Given the description of an element on the screen output the (x, y) to click on. 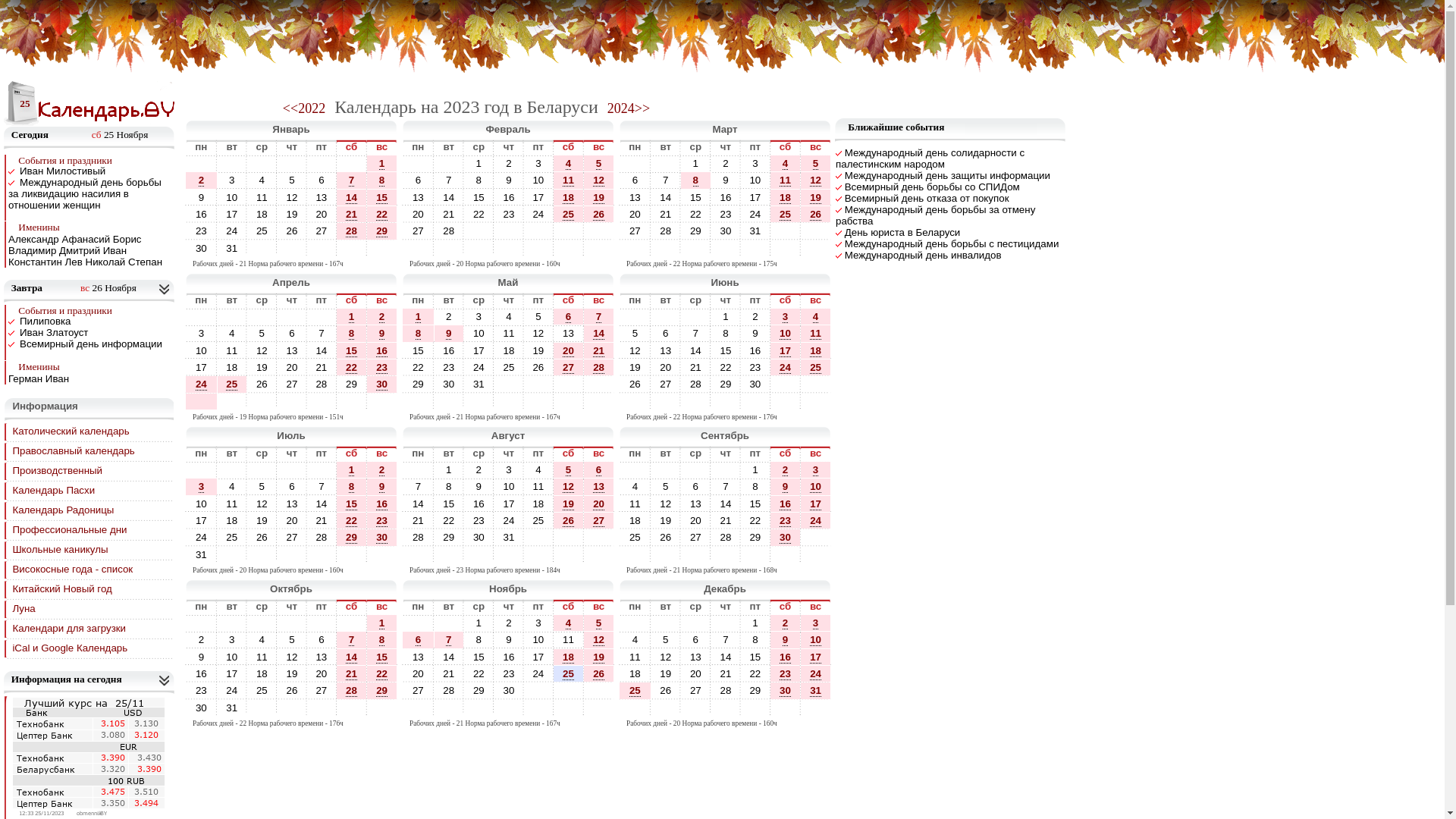
26 Element type: text (537, 367)
27 Element type: text (321, 230)
30 Element type: text (785, 537)
8 Element type: text (479, 180)
22 Element type: text (381, 673)
28 Element type: text (417, 536)
9 Element type: text (784, 639)
  Element type: text (725, 707)
  Element type: text (321, 401)
4 Element type: text (815, 316)
2 Element type: text (448, 316)
  Element type: text (598, 690)
30 Element type: text (725, 230)
17 Element type: text (231, 213)
4 Element type: text (262, 639)
25 Element type: text (634, 690)
17 Element type: text (508, 503)
17 Element type: text (201, 520)
2024>> Element type: text (628, 108)
14 Element type: text (351, 197)
13 Element type: text (634, 197)
5 Element type: text (568, 470)
7 Element type: text (351, 180)
10 Element type: text (784, 333)
22 Element type: text (754, 520)
22 Element type: text (351, 520)
14 Element type: text (321, 350)
13 Element type: text (417, 657)
  Element type: text (291, 622)
13 Element type: text (695, 656)
  Element type: text (695, 316)
26 Element type: text (598, 674)
2 Element type: text (200, 639)
2 Element type: text (381, 316)
  Element type: text (665, 554)
26 Element type: text (568, 520)
22 Element type: text (478, 673)
27 Element type: text (417, 230)
25 Element type: text (785, 214)
19 Element type: text (598, 197)
21 Element type: text (725, 673)
18 Element type: text (815, 350)
27 Element type: text (417, 690)
13 Element type: text (695, 503)
  Element type: text (538, 554)
  Element type: text (725, 401)
  Element type: text (785, 401)
31 Element type: text (815, 690)
  Element type: text (381, 248)
30 Element type: text (381, 384)
27 Element type: text (417, 690)
20 Element type: text (417, 673)
  Element type: text (754, 401)
  Element type: text (785, 248)
2 Element type: text (508, 163)
25 Element type: text (261, 690)
31 Element type: text (231, 707)
16 Element type: text (725, 197)
9 Element type: text (478, 486)
19 Element type: text (292, 213)
12 Element type: text (537, 332)
26 Element type: text (261, 536)
  Element type: text (200, 401)
6 Element type: text (320, 179)
  Element type: text (448, 622)
12 Element type: text (815, 180)
28 Element type: text (417, 537)
30 Element type: text (200, 707)
2 Element type: text (508, 622)
1 Element type: text (417, 316)
  Element type: text (695, 401)
7 Element type: text (695, 332)
12 Element type: text (665, 656)
17 Element type: text (478, 350)
4 Element type: text (568, 623)
26 Element type: text (291, 690)
  Element type: text (351, 248)
20 Element type: text (417, 213)
  Element type: text (598, 537)
7 Element type: text (598, 316)
24 Element type: text (231, 690)
8 Element type: text (381, 180)
18 Element type: text (231, 520)
6 Element type: text (695, 486)
10 Element type: text (538, 180)
14 Element type: text (448, 656)
25 Element type: text (231, 536)
24 Element type: text (508, 520)
29 Element type: text (381, 231)
28 Element type: text (695, 384)
  Element type: text (725, 248)
22 Element type: text (695, 213)
28 Element type: text (448, 690)
  Element type: text (538, 537)
19 Element type: text (291, 214)
18 Element type: text (261, 213)
15 Element type: text (381, 197)
10 Element type: text (537, 179)
24 Element type: text (785, 367)
20 Element type: text (665, 367)
15 Element type: text (381, 657)
5 Element type: text (634, 333)
27 Element type: text (320, 690)
24 Element type: text (815, 520)
3 Element type: text (231, 639)
  Element type: text (538, 690)
23 Element type: text (508, 673)
17 Element type: text (231, 673)
11 Element type: text (815, 333)
6 Element type: text (634, 179)
  Element type: text (568, 401)
1 Element type: text (381, 163)
25 Element type: text (634, 690)
20 Element type: text (634, 213)
28 Element type: text (321, 384)
  Element type: text (262, 622)
  Element type: text (725, 622)
6 Element type: text (695, 639)
  Element type: text (291, 554)
28 Element type: text (725, 537)
11 Element type: text (262, 197)
14 Element type: text (321, 503)
9 Element type: text (508, 639)
30 Element type: text (784, 537)
17 Element type: text (754, 197)
1 Element type: text (695, 163)
27 Element type: text (568, 367)
15 Element type: text (479, 657)
19 Element type: text (665, 673)
15 Element type: text (754, 656)
17 Element type: text (508, 503)
23 Element type: text (725, 213)
3 Element type: text (537, 163)
29 Element type: text (754, 690)
30 Element type: text (754, 384)
  Element type: text (725, 554)
26 Element type: text (261, 383)
10 Element type: text (200, 350)
15 Element type: text (448, 503)
1 Element type: text (479, 622)
4 Element type: text (815, 316)
28 Element type: text (695, 383)
2 Element type: text (785, 622)
31 Element type: text (508, 536)
28 Element type: text (320, 536)
28 Element type: text (448, 690)
  Element type: text (417, 622)
12 Element type: text (634, 350)
14 Element type: text (351, 657)
  Element type: text (417, 248)
28 Element type: text (725, 690)
8 Element type: text (754, 639)
26 Element type: text (292, 690)
31 Element type: text (200, 554)
  Element type: text (665, 622)
23 Element type: text (725, 214)
24 Element type: text (754, 213)
14 Element type: text (448, 197)
29 Element type: text (351, 383)
10 Element type: text (231, 197)
27 Element type: text (320, 230)
10 Element type: text (201, 503)
21 Element type: text (448, 213)
19 Element type: text (634, 367)
3 Element type: text (537, 622)
29 Element type: text (695, 230)
8 Element type: text (479, 639)
  Element type: text (665, 248)
28 Element type: text (320, 383)
27 Element type: text (321, 690)
24 Element type: text (815, 520)
22 Element type: text (479, 673)
6 Element type: text (665, 332)
25 Element type: text (815, 367)
30 Element type: text (448, 383)
6 Element type: text (665, 333)
20 Element type: text (417, 214)
23 Element type: text (754, 367)
  Element type: text (321, 622)
  Element type: text (815, 554)
17 Element type: text (754, 197)
  Element type: text (479, 707)
1 Element type: text (351, 469)
10 Element type: text (754, 179)
3 Element type: text (815, 470)
14 Element type: text (725, 656)
  Element type: text (200, 469)
12 Element type: text (665, 657)
4 Element type: text (231, 332)
18 Element type: text (815, 351)
12 Element type: text (665, 503)
12 Element type: text (665, 503)
11 Element type: text (785, 180)
29 Element type: text (754, 690)
1 Element type: text (351, 470)
8 Element type: text (448, 486)
8 Element type: text (448, 486)
2 Element type: text (725, 163)
26 Element type: text (262, 537)
2 Element type: text (200, 180)
19 Element type: text (261, 520)
13 Element type: text (695, 503)
5 Element type: text (291, 639)
21 Element type: text (321, 520)
21 Element type: text (695, 367)
29 Element type: text (754, 537)
  Element type: text (231, 622)
  Element type: text (634, 707)
2 Element type: text (200, 180)
7 Element type: text (448, 179)
24 Element type: text (200, 384)
  Element type: text (815, 537)
2 Element type: text (508, 163)
21 Element type: text (695, 367)
31 Element type: text (201, 554)
27 Element type: text (665, 384)
4 Element type: text (568, 622)
8 Element type: text (754, 486)
27 Element type: text (598, 520)
18 Element type: text (231, 367)
20 Element type: text (292, 520)
24 Element type: text (784, 367)
16 Element type: text (508, 656)
30 Element type: text (478, 536)
11 Element type: text (634, 656)
14 Element type: text (351, 657)
18 Element type: text (634, 673)
30 Element type: text (448, 384)
11 Element type: text (262, 657)
17 Element type: text (815, 657)
18 Element type: text (634, 673)
8 Element type: text (695, 180)
19 Element type: text (598, 657)
19 Element type: text (665, 673)
5 Element type: text (568, 469)
4 Element type: text (261, 639)
2 Element type: text (200, 639)
  Element type: text (262, 469)
8 Element type: text (351, 486)
  Element type: text (200, 316)
24 Element type: text (537, 213)
21 Element type: text (665, 213)
30 Element type: text (200, 248)
  Element type: text (634, 163)
21 Element type: text (665, 214)
9 Element type: text (200, 197)
26 Element type: text (634, 384)
11 Element type: text (815, 333)
23 Element type: text (785, 520)
6 Element type: text (321, 639)
22 Element type: text (754, 673)
20 Element type: text (292, 367)
6 Element type: text (417, 179)
26 Element type: text (291, 230)
2 Element type: text (508, 622)
1 Element type: text (381, 622)
  Element type: text (754, 707)
26 Element type: text (262, 384)
20 Element type: text (695, 520)
15 Element type: text (478, 197)
  Element type: text (417, 707)
25 Element type: text (231, 537)
13 Element type: text (417, 197)
  Element type: text (634, 554)
10 Element type: text (785, 333)
23 Element type: text (508, 214)
<<2022 Element type: text (303, 108)
24 Element type: text (479, 367)
7 Element type: text (417, 486)
23 Element type: text (381, 367)
12 Element type: text (538, 333)
  Element type: text (634, 248)
18 Element type: text (262, 214)
20 Element type: text (321, 673)
8 Element type: text (754, 639)
11 Element type: text (261, 197)
11 Element type: text (568, 180)
24 Element type: text (201, 536)
13 Element type: text (292, 503)
10 Element type: text (231, 656)
  Element type: text (479, 554)
  Element type: text (262, 554)
  Element type: text (479, 248)
6 Element type: text (568, 316)
24 Element type: text (538, 214)
  Element type: text (231, 554)
22 Element type: text (725, 367)
12 Element type: text (261, 350)
11 Element type: text (261, 656)
1 Element type: text (381, 163)
29 Element type: text (417, 384)
25 Element type: text (262, 230)
  Element type: text (417, 554)
17 Element type: text (784, 351)
28 Element type: text (351, 690)
4 Element type: text (508, 316)
19 Element type: text (815, 197)
19 Element type: text (291, 673)
3 Element type: text (815, 469)
23 Element type: text (785, 673)
13 Element type: text (291, 350)
  Element type: text (321, 248)
7 Element type: text (320, 332)
29 Element type: text (725, 383)
  Element type: text (785, 554)
16 Element type: text (508, 657)
3 Element type: text (200, 486)
19 Element type: text (665, 520)
  Element type: text (634, 316)
  Element type: text (634, 469)
  Element type: text (815, 384)
1 Element type: text (479, 163)
22 Element type: text (695, 214)
1 Element type: text (725, 316)
16 Element type: text (381, 504)
19 Element type: text (292, 673)
22 Element type: text (381, 214)
18 Element type: text (261, 673)
6 Element type: text (417, 180)
30 Element type: text (479, 537)
12 Element type: text (262, 350)
16 Element type: text (508, 197)
16 Element type: text (725, 197)
14 Element type: text (665, 197)
13 Element type: text (417, 197)
10 Element type: text (754, 180)
25 Element type: text (784, 214)
27 Element type: text (292, 383)
23 Element type: text (200, 690)
21 Element type: text (417, 520)
  Element type: text (725, 469)
11 Element type: text (231, 503)
  Element type: text (815, 401)
26 Element type: text (568, 520)
5 Element type: text (598, 622)
23 Element type: text (754, 367)
  Element type: text (262, 248)
16 Element type: text (448, 350)
7 Element type: text (665, 180)
22 Element type: text (725, 367)
18 Element type: text (634, 520)
31 Element type: text (231, 248)
13 Element type: text (598, 486)
18 Element type: text (568, 197)
23 Element type: text (478, 520)
10 Element type: text (478, 332)
17 Element type: text (201, 367)
2 Element type: text (381, 470)
15 Element type: text (725, 350)
  Element type: text (321, 163)
13 Element type: text (568, 332)
11 Element type: text (568, 639)
7 Element type: text (321, 333)
12 Element type: text (568, 486)
13 Element type: text (321, 657)
8 Element type: text (725, 332)
22 Element type: text (478, 213)
30 Element type: text (201, 707)
13 Element type: text (695, 657)
7 Element type: text (695, 333)
15 Element type: text (351, 351)
1 Element type: text (351, 316)
28 Element type: text (448, 230)
19 Element type: text (598, 657)
24 Element type: text (231, 230)
  Element type: text (417, 401)
10 Element type: text (508, 486)
29 Element type: text (417, 383)
23 Element type: text (201, 690)
22 Element type: text (479, 214)
9 Element type: text (508, 179)
28 Element type: text (448, 230)
28 Element type: text (725, 536)
19 Element type: text (634, 367)
21 Element type: text (725, 673)
26 Element type: text (292, 230)
14 Element type: text (725, 503)
30 Element type: text (381, 537)
20 Element type: text (598, 504)
10 Element type: text (231, 197)
21 Element type: text (351, 673)
19 Element type: text (261, 367)
27 Element type: text (634, 230)
  Element type: text (448, 163)
  Element type: text (351, 401)
  Element type: text (321, 469)
16 Element type: text (381, 351)
25 Element type: text (634, 536)
15 Element type: text (381, 197)
19 Element type: text (568, 503)
6 Element type: text (568, 316)
18 Element type: text (508, 350)
  Element type: text (815, 707)
9 Element type: text (754, 332)
8 Element type: text (351, 333)
12 Element type: text (568, 486)
31 Element type: text (479, 384)
5 Element type: text (262, 486)
  Element type: text (568, 384)
18 Element type: text (508, 350)
6 Element type: text (291, 486)
17 Element type: text (815, 504)
  Element type: text (538, 401)
3 Element type: text (231, 180)
18 Element type: text (568, 197)
7 Element type: text (417, 486)
6 Element type: text (417, 639)
27 Element type: text (695, 537)
  Element type: text (598, 384)
18 Element type: text (537, 503)
20 Element type: text (695, 673)
2 Element type: text (754, 316)
  Element type: text (634, 622)
12 Element type: text (291, 197)
23 Element type: text (381, 520)
9 Element type: text (785, 486)
14 Element type: text (351, 197)
14 Element type: text (448, 657)
1 Element type: text (478, 622)
3 Element type: text (200, 486)
22 Element type: text (754, 520)
1 Element type: text (448, 469)
9 Element type: text (508, 639)
22 Element type: text (351, 367)
  Element type: text (538, 248)
7 Element type: text (351, 180)
21 Element type: text (320, 520)
11 Element type: text (508, 332)
12 Element type: text (598, 180)
29 Element type: text (754, 536)
  Element type: text (231, 469)
5 Element type: text (538, 316)
19 Element type: text (665, 520)
  Element type: text (448, 554)
19 Element type: text (598, 197)
12 Element type: text (815, 180)
25 Element type: text (508, 367)
1 Element type: text (381, 623)
9 Element type: text (200, 656)
15 Element type: text (725, 350)
10 Element type: text (537, 639)
3 Element type: text (754, 163)
21 Element type: text (448, 214)
25 Element type: text (568, 214)
16 Element type: text (200, 673)
21 Element type: text (320, 367)
21 Element type: text (448, 673)
  Element type: text (231, 401)
  Element type: text (262, 163)
  Element type: text (598, 248)
  Element type: text (262, 707)
  Element type: text (568, 248)
1 Element type: text (695, 163)
20 Element type: text (634, 214)
  Element type: text (665, 469)
26 Element type: text (634, 383)
28 Element type: text (351, 690)
12 Element type: text (598, 639)
7 Element type: text (665, 179)
7 Element type: text (448, 639)
22 Element type: text (351, 367)
17 Element type: text (537, 656)
26 Element type: text (815, 214)
26 Element type: text (815, 214)
  Element type: text (321, 707)
29 Element type: text (479, 690)
5 Element type: text (665, 486)
2 Element type: text (784, 623)
24 Element type: text (815, 674)
  Element type: text (291, 163)
7 Element type: text (320, 486)
17 Element type: text (538, 657)
29 Element type: text (351, 384)
14 Element type: text (598, 333)
16 Element type: text (785, 657)
10 Element type: text (815, 486)
18 Element type: text (231, 520)
26 Element type: text (598, 673)
  Element type: text (381, 554)
29 Element type: text (351, 537)
28 Element type: text (665, 230)
18 Element type: text (784, 197)
20 Element type: text (598, 503)
  Element type: text (200, 163)
4 Element type: text (508, 316)
30 Element type: text (381, 384)
3 Element type: text (754, 163)
28 Element type: text (598, 367)
  Element type: text (448, 401)
5 Element type: text (261, 332)
  Element type: text (508, 401)
5 Element type: text (598, 623)
21 Element type: text (321, 367)
1 Element type: text (351, 316)
6 Element type: text (598, 470)
14 Element type: text (448, 197)
  Element type: text (598, 230)
6 Element type: text (695, 639)
23 Element type: text (479, 520)
20 Element type: text (568, 350)
31 Element type: text (754, 230)
  Element type: text (291, 469)
17 Element type: text (815, 657)
17 Element type: text (815, 503)
18 Element type: text (231, 367)
25 Element type: text (815, 367)
14 Element type: text (725, 503)
  Element type: text (291, 401)
30 Element type: text (201, 248)
  Element type: text (538, 384)
1 Element type: text (754, 622)
10 Element type: text (231, 657)
  Element type: text (568, 537)
13 Element type: text (417, 656)
13 Element type: text (292, 350)
  Element type: text (598, 554)
7 Element type: text (448, 639)
  Element type: text (351, 554)
  Element type: text (665, 163)
18 Element type: text (568, 657)
8 Element type: text (417, 333)
15 Element type: text (754, 503)
  Element type: text (291, 248)
5 Element type: text (634, 332)
  Element type: text (568, 707)
  Element type: text (479, 401)
3 Element type: text (815, 622)
22 Element type: text (351, 520)
5 Element type: text (665, 486)
19 Element type: text (537, 350)
23 Element type: text (784, 674)
26 Element type: text (665, 690)
21 Element type: text (725, 520)
25 Element type: text (508, 367)
31 Element type: text (478, 383)
16 Element type: text (201, 213)
20 Element type: text (320, 673)
27 Element type: text (291, 384)
19 Element type: text (262, 520)
1 Element type: text (754, 469)
5 Element type: text (815, 163)
20 Element type: text (695, 673)
29 Element type: text (725, 384)
6 Element type: text (291, 332)
  Element type: text (815, 248)
28 Element type: text (351, 231)
18 Element type: text (568, 657)
4 Element type: text (538, 469)
13 Element type: text (321, 197)
27 Element type: text (695, 536)
8 Element type: text (417, 333)
12 Element type: text (292, 197)
7 Element type: text (351, 639)
11 Element type: text (537, 486)
23 Element type: text (201, 230)
  Element type: text (695, 554)
26 Element type: text (598, 214)
  Element type: text (815, 230)
11 Element type: text (568, 639)
5 Element type: text (291, 180)
25 Element type: text (262, 690)
3 Element type: text (508, 469)
11 Element type: text (231, 350)
9 Element type: text (784, 486)
5 Element type: text (291, 639)
14 Element type: text (725, 657)
15 Element type: text (754, 657)
14 Element type: text (320, 503)
16 Element type: text (448, 350)
16 Element type: text (754, 350)
12 Element type: text (291, 657)
23 Element type: text (784, 520)
1 Element type: text (725, 316)
17 Element type: text (200, 520)
  Element type: text (417, 469)
  Element type: text (568, 690)
  Element type: text (568, 230)
9 Element type: text (725, 179)
23 Element type: text (448, 367)
28 Element type: text (351, 230)
16 Element type: text (784, 504)
19 Element type: text (262, 367)
  Element type: text (665, 316)
31 Element type: text (508, 537)
1 Element type: text (448, 469)
19 Element type: text (815, 197)
21 Element type: text (351, 214)
28 Element type: text (321, 537)
13 Element type: text (598, 486)
3 Element type: text (231, 179)
20 Element type: text (321, 214)
12 Element type: text (598, 639)
7 Element type: text (725, 486)
11 Element type: text (784, 180)
25 Element type: text (568, 674)
9 Element type: text (448, 333)
11 Element type: text (231, 503)
24 Element type: text (754, 214)
5 Element type: text (598, 163)
30 Element type: text (508, 690)
22 Element type: text (381, 674)
27 Element type: text (665, 383)
21 Element type: text (598, 350)
1 Element type: text (754, 622)
  Element type: text (754, 554)
5 Element type: text (598, 163)
26 Element type: text (665, 537)
3 Element type: text (200, 332)
12 Element type: text (292, 656)
29 Element type: text (448, 537)
18 Element type: text (262, 673)
5 Element type: text (815, 163)
16 Element type: text (754, 350)
  Element type: text (448, 707)
7 Element type: text (598, 316)
9 Element type: text (381, 333)
17 Element type: text (479, 350)
3 Element type: text (200, 333)
  Element type: text (291, 316)
9 Element type: text (381, 486)
21 Element type: text (725, 520)
17 Element type: text (200, 367)
26 Element type: text (665, 536)
21 Element type: text (351, 214)
  Element type: text (754, 248)
6 Element type: text (320, 639)
13 Element type: text (291, 503)
15 Element type: text (695, 197)
20 Element type: text (320, 213)
1 Element type: text (417, 316)
8 Element type: text (725, 333)
25 Element type: text (634, 537)
21 Element type: text (351, 674)
15 Element type: text (417, 350)
17 Element type: text (785, 350)
8 Element type: text (478, 639)
6 Element type: text (291, 486)
17 Element type: text (537, 197)
13 Element type: text (665, 350)
   25 Element type: text (21, 103)
5 Element type: text (665, 639)
22 Element type: text (381, 214)
8 Element type: text (478, 179)
  Element type: text (231, 316)
7 Element type: text (725, 486)
23 Element type: text (508, 673)
2 Element type: text (785, 469)
11 Element type: text (538, 486)
8 Element type: text (351, 486)
10 Element type: text (815, 639)
9 Element type: text (448, 333)
12 Element type: text (598, 180)
30 Element type: text (754, 383)
8 Element type: text (381, 639)
  Element type: text (695, 248)
  Element type: text (508, 230)
4 Element type: text (634, 486)
7 Element type: text (351, 639)
  Element type: text (417, 163)
21 Element type: text (598, 351)
14 Element type: text (417, 503)
21 Element type: text (448, 673)
4 Element type: text (568, 163)
  Element type: text (479, 230)
3 Element type: text (538, 622)
27 Element type: text (568, 367)
30 Element type: text (785, 690)
16 Element type: text (201, 673)
29 Element type: text (351, 537)
25 Element type: text (261, 230)
13 Element type: text (568, 333)
31 Element type: text (231, 248)
  Element type: text (321, 554)
3 Element type: text (784, 316)
28 Element type: text (598, 367)
  Element type: text (695, 707)
4 Element type: text (634, 639)
24 Element type: text (478, 367)
  Element type: text (351, 622)
6 Element type: text (291, 333)
21 Element type: text (417, 520)
26 Element type: text (665, 690)
20 Element type: text (665, 367)
  Element type: text (665, 401)
2 Element type: text (754, 316)
6 Element type: text (634, 180)
26 Element type: text (598, 214)
15 Element type: text (351, 350)
3 Element type: text (478, 316)
20 Element type: text (291, 367)
  Element type: text (508, 707)
  Element type: text (508, 554)
16 Element type: text (381, 503)
17 Element type: text (538, 197)
9 Element type: text (381, 486)
  Element type: text (200, 622)
30 Element type: text (784, 690)
29 Element type: text (381, 230)
29 Element type: text (381, 690)
25 Element type: text (231, 384)
26 Element type: text (538, 367)
29 Element type: text (478, 690)
8 Element type: text (381, 639)
27 Element type: text (291, 537)
4 Element type: text (634, 639)
7 Element type: text (321, 486)
10 Element type: text (815, 486)
10 Element type: text (479, 333)
2 Element type: text (381, 469)
11 Element type: text (568, 180)
3 Element type: text (815, 623)
4 Element type: text (784, 163)
31 Element type: text (231, 707)
29 Element type: text (448, 536)
3 Element type: text (538, 163)
5 Element type: text (665, 639)
7 Element type: text (448, 180)
13 Element type: text (320, 656)
22 Element type: text (417, 367)
8 Element type: text (381, 180)
5 Element type: text (291, 179)
22 Element type: text (754, 673)
14 Element type: text (598, 333)
23 Element type: text (381, 367)
23 Element type: text (200, 230)
15 Element type: text (381, 657)
20 Element type: text (417, 673)
24 Element type: text (537, 673)
27 Element type: text (695, 690)
2 Element type: text (381, 316)
9 Element type: text (200, 197)
12 Element type: text (261, 503)
  Element type: text (695, 622)
25 Element type: text (568, 214)
12 Element type: text (262, 503)
29 Element type: text (381, 690)
28 Element type: text (725, 690)
4 Element type: text (634, 486)
16 Element type: text (381, 350)
9 Element type: text (785, 639)
22 Element type: text (417, 367)
  Element type: text (231, 163)
16 Element type: text (784, 657)
11 Element type: text (634, 657)
25 Element type: text (231, 384)
  Element type: text (665, 707)
3 Element type: text (508, 469)
18 Element type: text (538, 503)
15 Element type: text (479, 197)
11 Element type: text (634, 503)
18 Element type: text (634, 520)
6 Element type: text (695, 486)
9 Element type: text (725, 180)
  Element type: text (538, 230)
12 Element type: text (634, 350)
14 Element type: text (695, 350)
31 Element type: text (815, 690)
7 Element type: text (725, 639)
  Element type: text (634, 401)
10 Element type: text (538, 639)
11 Element type: text (508, 333)
16 Element type: text (785, 503)
5 Element type: text (261, 486)
27 Element type: text (598, 520)
  Element type: text (351, 163)
  Element type: text (785, 384)
4 Element type: text (231, 333)
10 Element type: text (200, 503)
4 Element type: text (261, 179)
28 Element type: text (665, 230)
22 Element type: text (448, 520)
18 Element type: text (785, 197)
14 Element type: text (417, 503)
16 Element type: text (200, 214)
9 Element type: text (381, 333)
  Element type: text (785, 230)
20 Element type: text (695, 520)
14 Element type: text (320, 350)
4 Element type: text (231, 486)
30 Element type: text (508, 690)
  Element type: text (598, 707)
1 Element type: text (478, 163)
  Element type: text (381, 707)
13 Element type: text (634, 197)
29 Element type: text (695, 230)
8 Element type: text (754, 486)
9 Element type: text (200, 657)
24 Element type: text (538, 673)
16 Element type: text (479, 503)
20 Element type: text (568, 351)
10 Element type: text (508, 486)
30 Element type: text (725, 230)
  Element type: text (598, 401)
9 Element type: text (479, 486)
25 Element type: text (537, 520)
15 Element type: text (448, 503)
31 Element type: text (754, 230)
5 Element type: text (537, 316)
3 Element type: text (479, 316)
  Element type: text (381, 401)
6 Element type: text (417, 639)
23 Element type: text (381, 520)
8 Element type: text (695, 180)
  Element type: text (785, 707)
  Element type: text (568, 554)
10 Element type: text (815, 639)
23 Element type: text (508, 213)
9 Element type: text (508, 180)
2 Element type: text (784, 470)
30 Element type: text (381, 537)
24 Element type: text (200, 537)
14 Element type: text (695, 350)
15 Element type: text (417, 350)
24 Element type: text (231, 690)
13 Element type: text (320, 197)
  Element type: text (262, 401)
4 Element type: text (568, 163)
3 Element type: text (785, 316)
13 Element type: text (665, 350)
11 Element type: text (231, 350)
24 Element type: text (815, 673)
22 Element type: text (448, 520)
15 Element type: text (351, 503)
  Element type: text (291, 707)
16 Element type: text (478, 503)
14 Element type: text (665, 197)
4 Element type: text (537, 469)
8 Element type: text (351, 333)
17 Element type: text (231, 214)
4 Element type: text (231, 486)
15 Element type: text (754, 503)
3 Element type: text (231, 639)
23 Element type: text (448, 367)
2 Element type: text (479, 469)
24 Element type: text (508, 520)
25 Element type: text (568, 673)
16 Element type: text (508, 197)
  Element type: text (262, 316)
  Element type: text (695, 469)
19 Element type: text (568, 504)
27 Element type: text (292, 536)
  Element type: text (508, 248)
9 Element type: text (754, 333)
7 Element type: text (725, 639)
27 Element type: text (634, 230)
10 Element type: text (201, 350)
24 Element type: text (231, 230)
  Element type: text (351, 707)
1 Element type: text (754, 469)
27 Element type: text (695, 690)
4 Element type: text (785, 163)
5 Element type: text (262, 333)
6 Element type: text (321, 180)
2 Element type: text (725, 163)
  Element type: text (321, 316)
  Element type: text (508, 384)
20 Element type: text (291, 520)
  Element type: text (538, 707)
4 Element type: text (262, 180)
2 Element type: text (448, 316)
24 Element type: text (201, 384)
15 Element type: text (695, 197)
17 Element type: text (231, 673)
2 Element type: text (478, 469)
15 Element type: text (478, 656)
11 Element type: text (634, 503)
27 Element type: text (417, 230)
  Element type: text (448, 248)
6 Element type: text (598, 469)
19 Element type: text (538, 350)
25 Element type: text (538, 520)
15 Element type: text (351, 504)
